Given the description of an element on the screen output the (x, y) to click on. 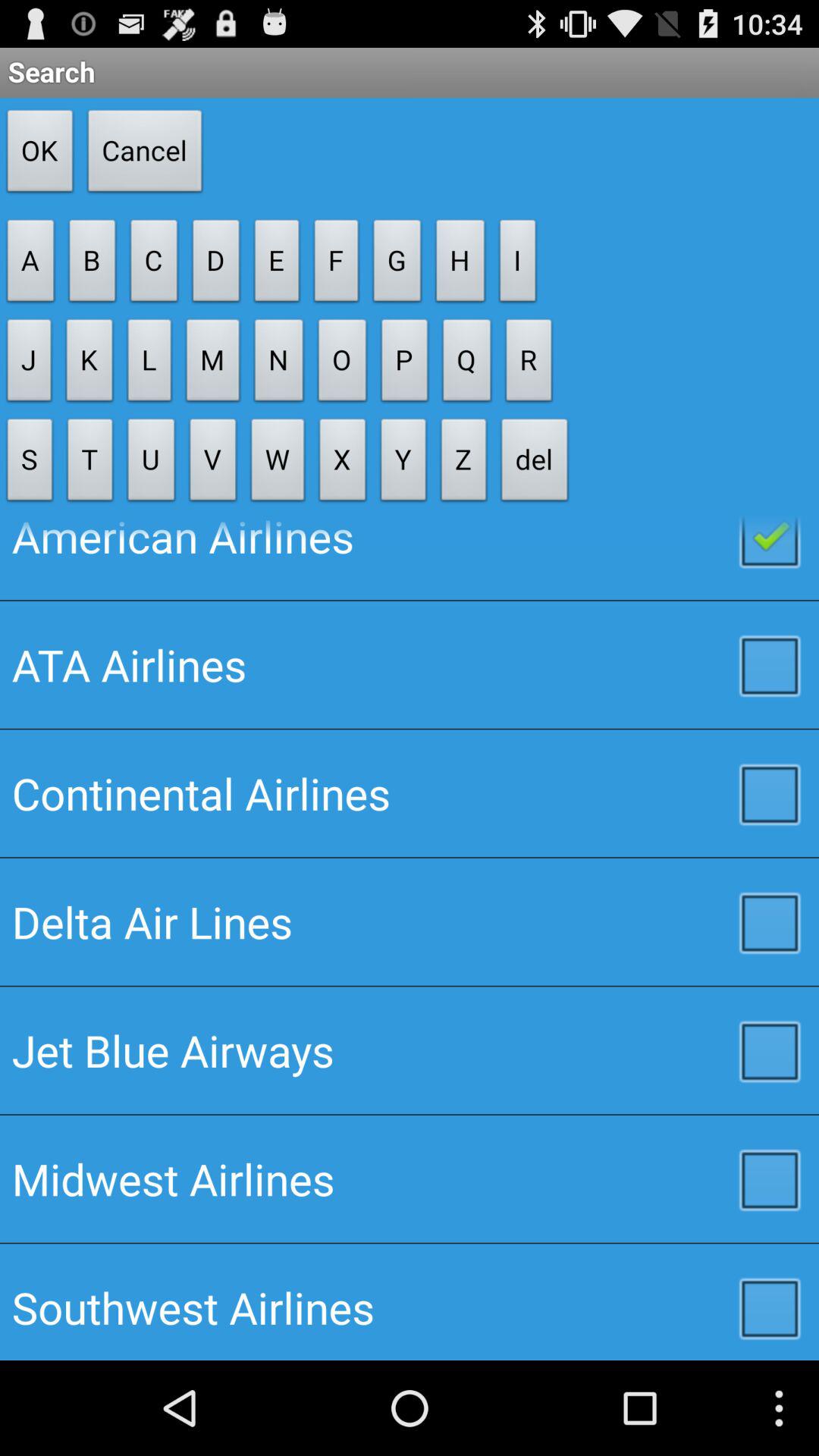
press the ata airlines icon (409, 664)
